Given the description of an element on the screen output the (x, y) to click on. 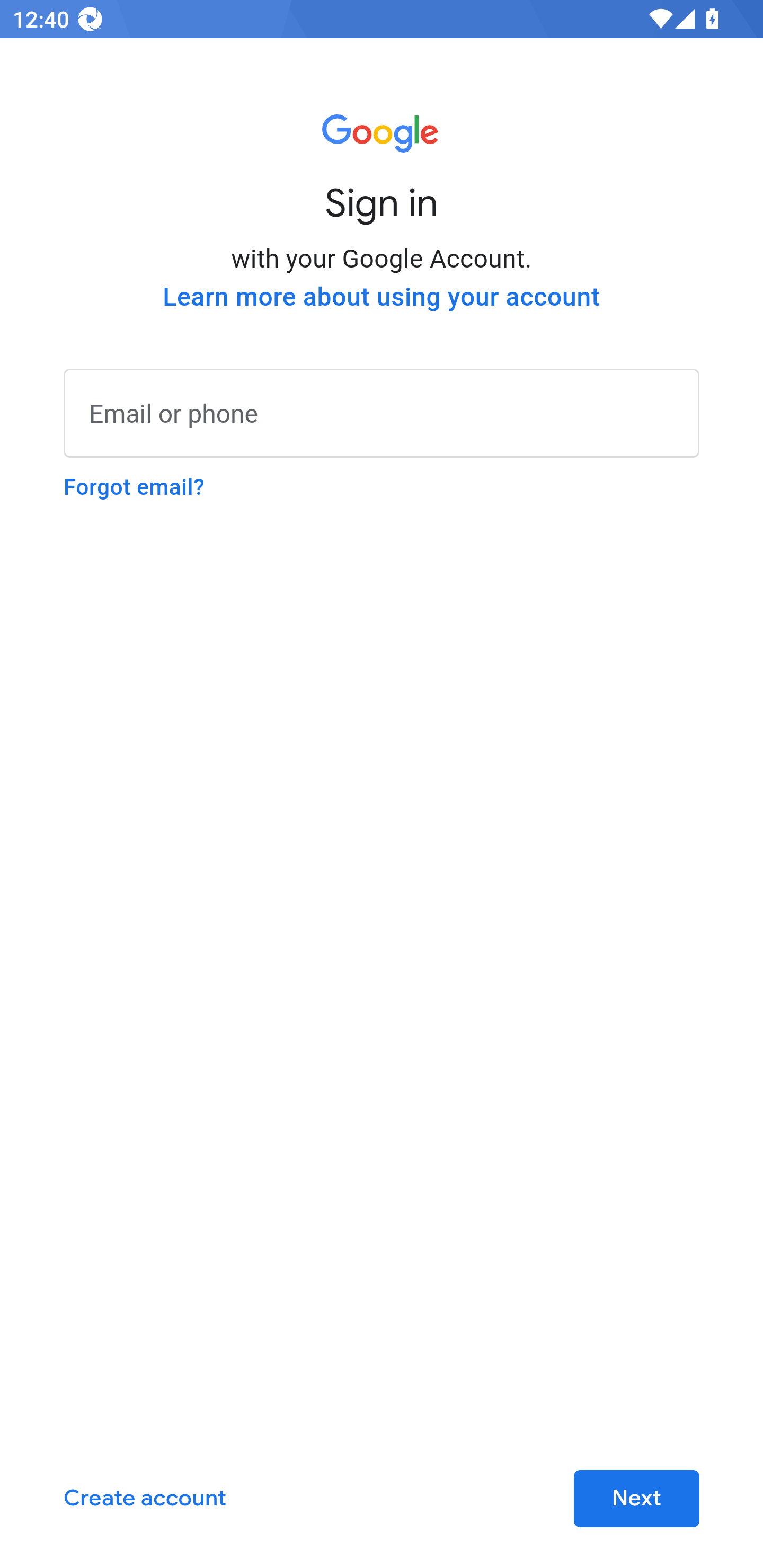
Learn more about using your account (381, 296)
Forgot email? (133, 486)
Create account (145, 1498)
Next (635, 1498)
